Given the description of an element on the screen output the (x, y) to click on. 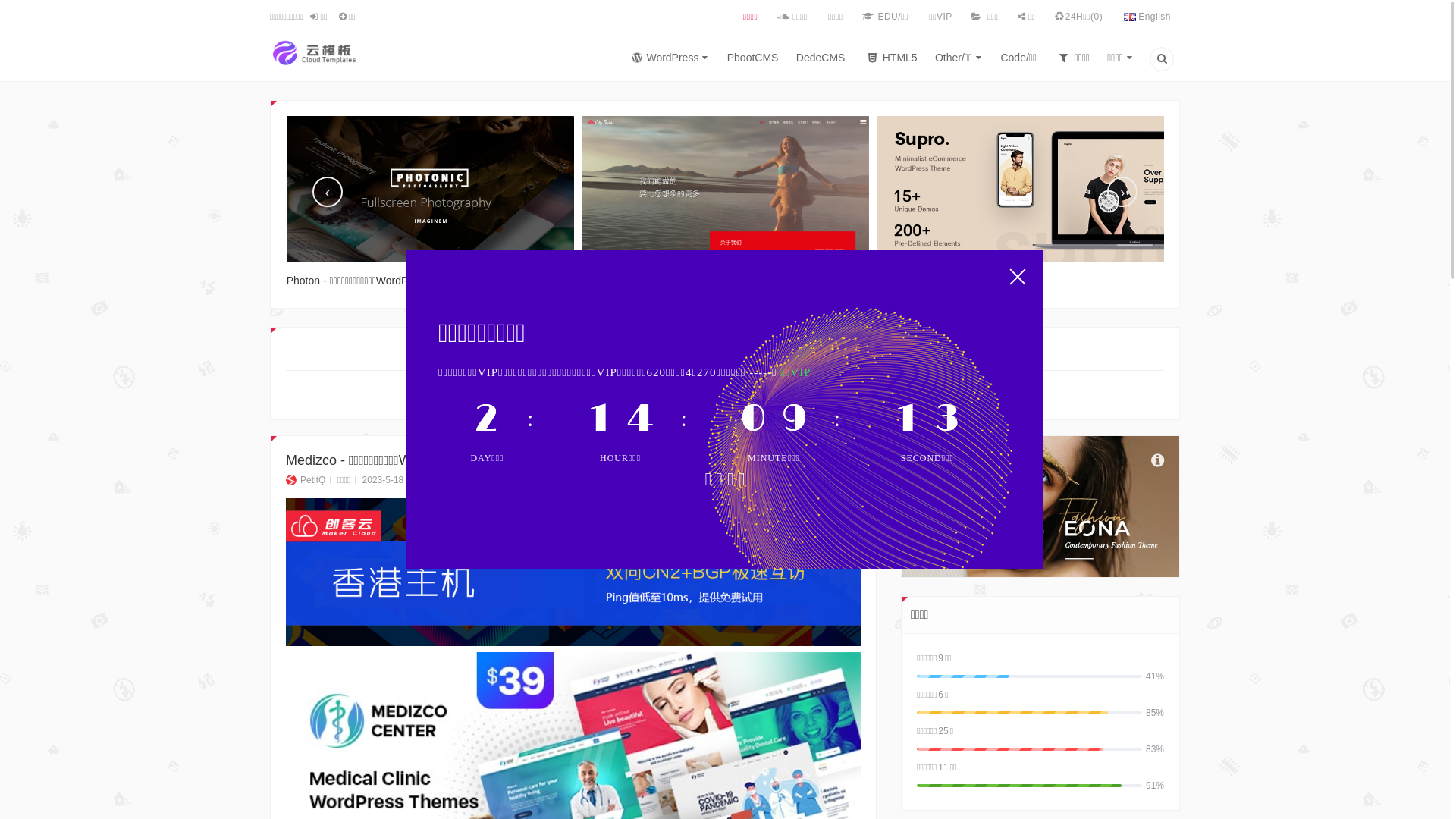
WordPress Element type: text (693, 394)
PbootCMS Element type: text (752, 60)
HTML5 Element type: text (890, 60)
DedeCMS Element type: text (820, 60)
0 Element type: text (468, 479)
9.8 Element type: hover (572, 572)
English Element type: text (1146, 16)
PetitQ Element type: text (305, 479)
WordPress Element type: text (667, 60)
